Given the description of an element on the screen output the (x, y) to click on. 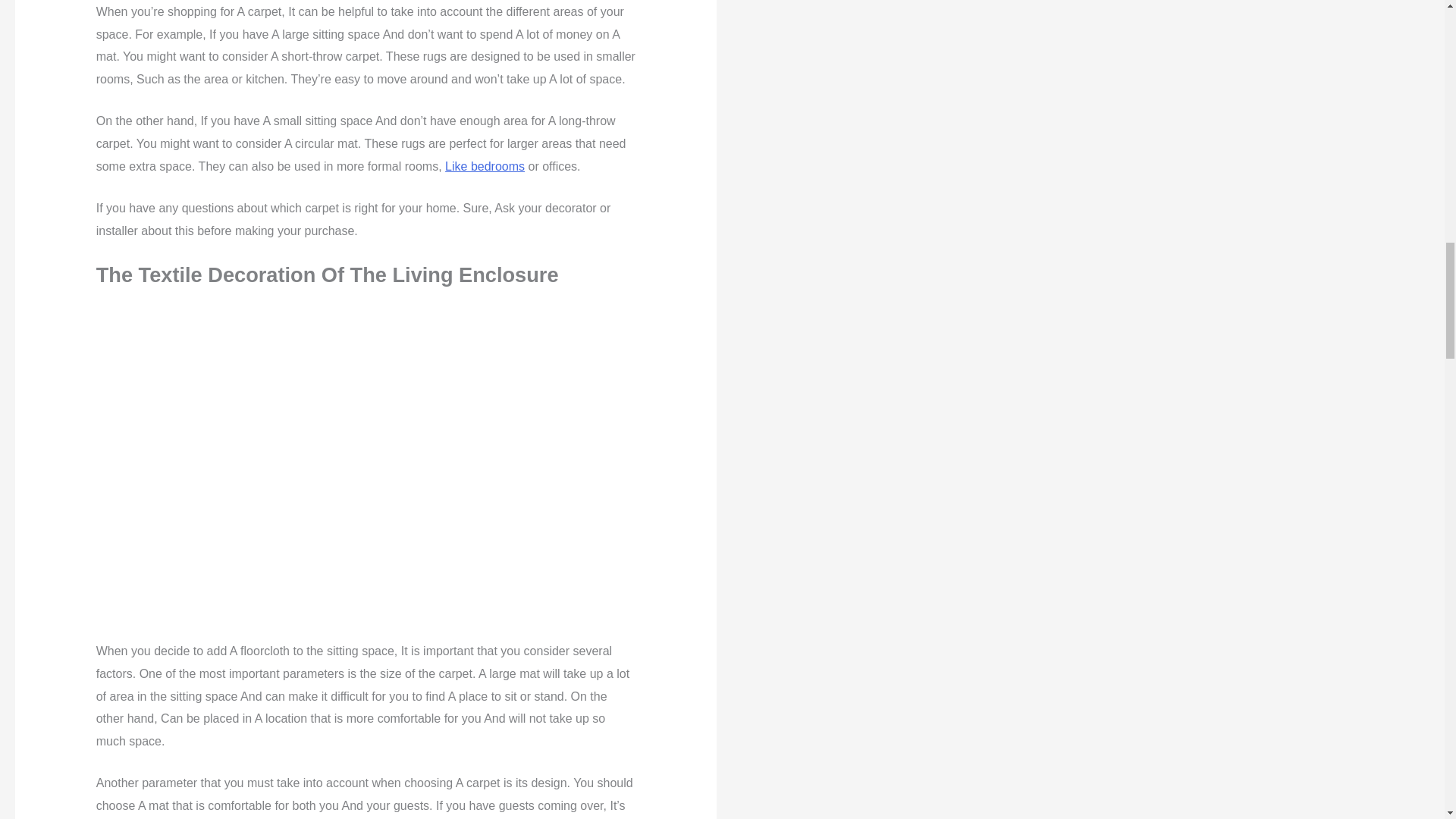
Like bedrooms (484, 165)
